Given the description of an element on the screen output the (x, y) to click on. 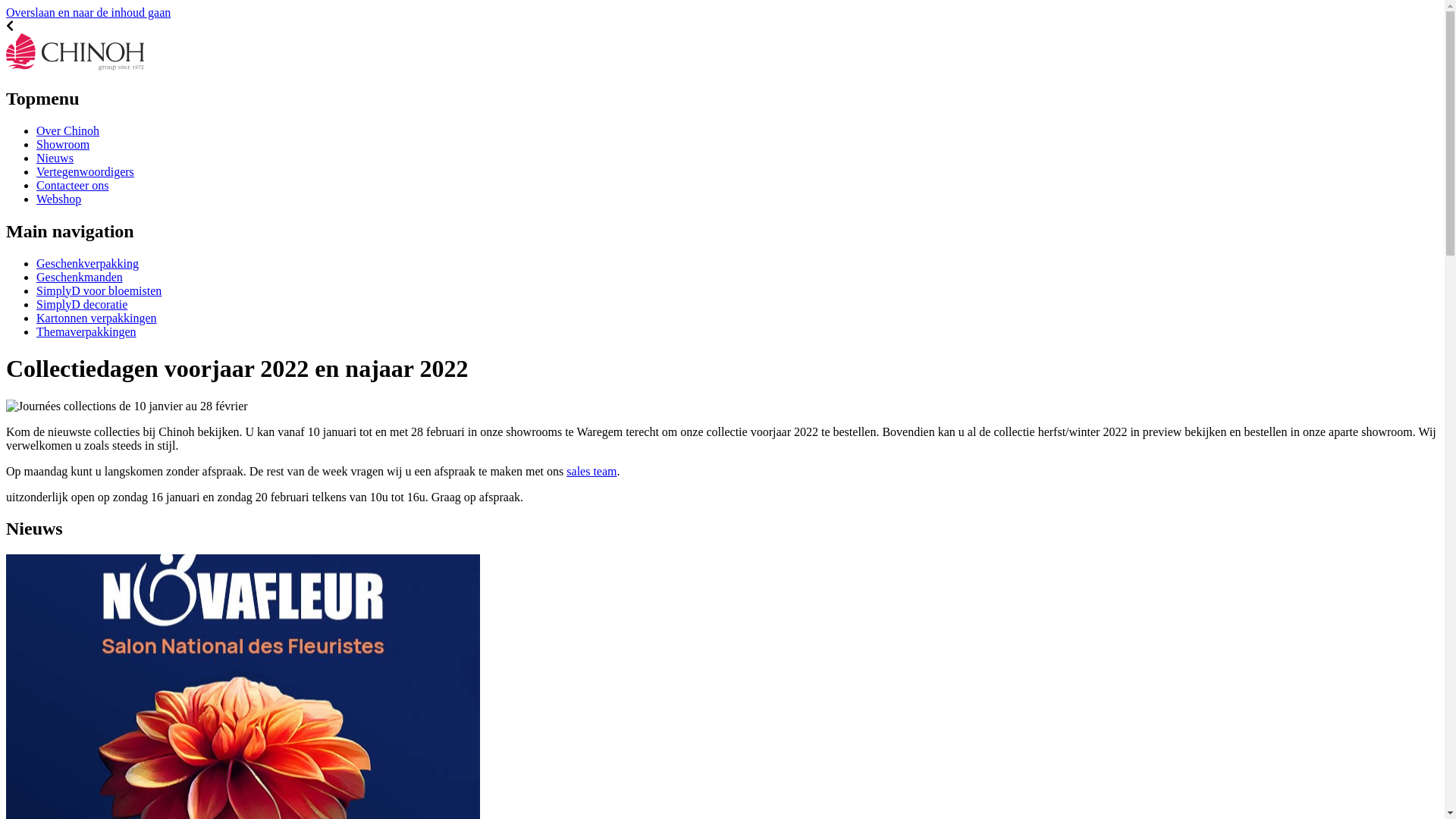
SimplyD voor bloemisten Element type: text (98, 290)
sales team Element type: text (591, 470)
Showroom Element type: text (62, 144)
Nieuws Element type: text (54, 157)
Themaverpakkingen Element type: text (86, 331)
Vertegenwoordigers Element type: text (85, 171)
SimplyD decoratie Element type: text (81, 304)
Geschenkmanden Element type: text (79, 276)
Webshop Element type: text (58, 198)
Contacteer ons Element type: text (72, 184)
Overslaan en naar de inhoud gaan Element type: text (88, 12)
Over Chinoh Element type: text (67, 130)
Geschenkverpakking Element type: text (87, 263)
Kartonnen verpakkingen Element type: text (96, 317)
